Given the description of an element on the screen output the (x, y) to click on. 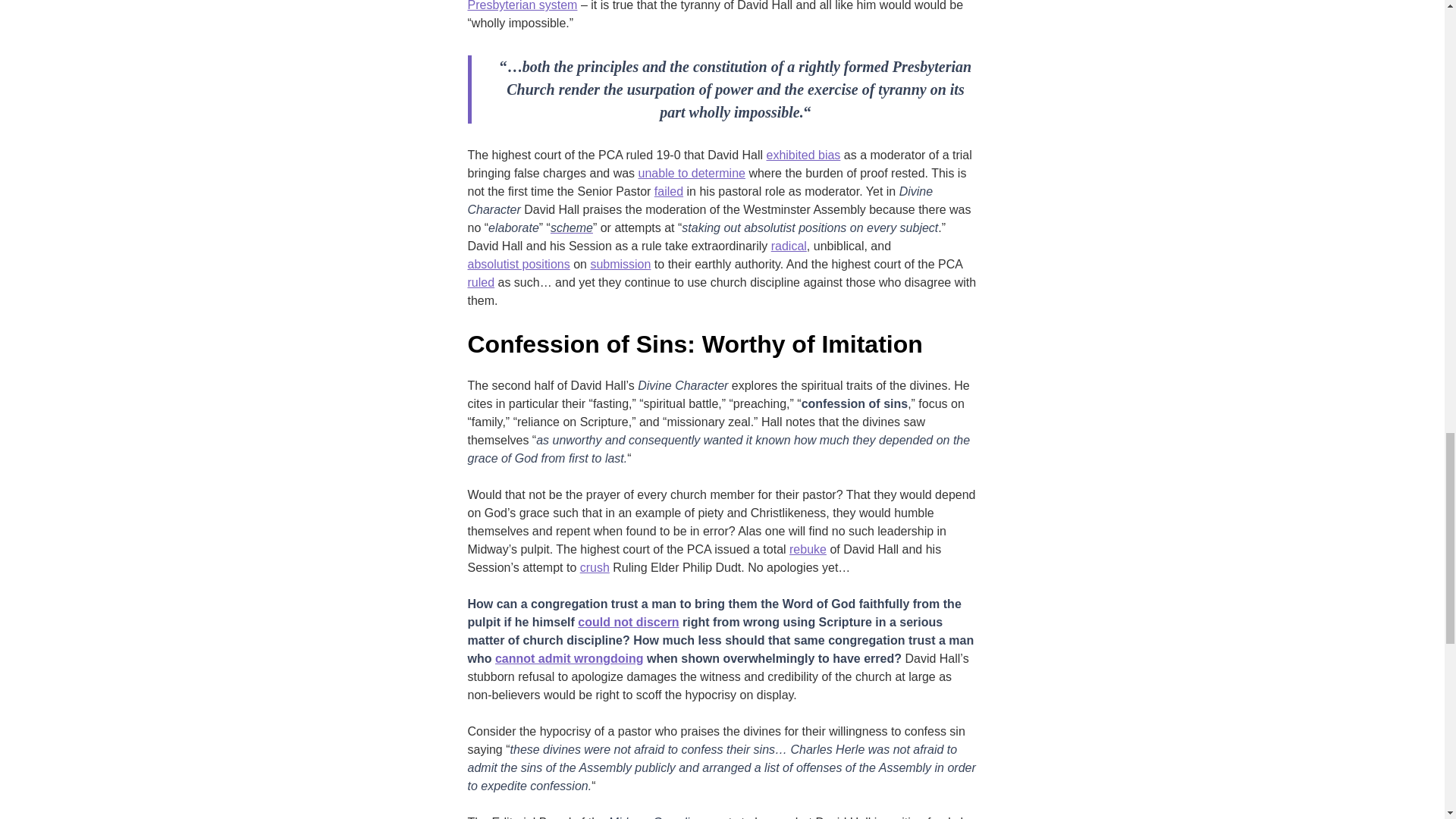
Presbyterian system (521, 7)
exhibited bias (802, 155)
unable to determine (692, 173)
